Given the description of an element on the screen output the (x, y) to click on. 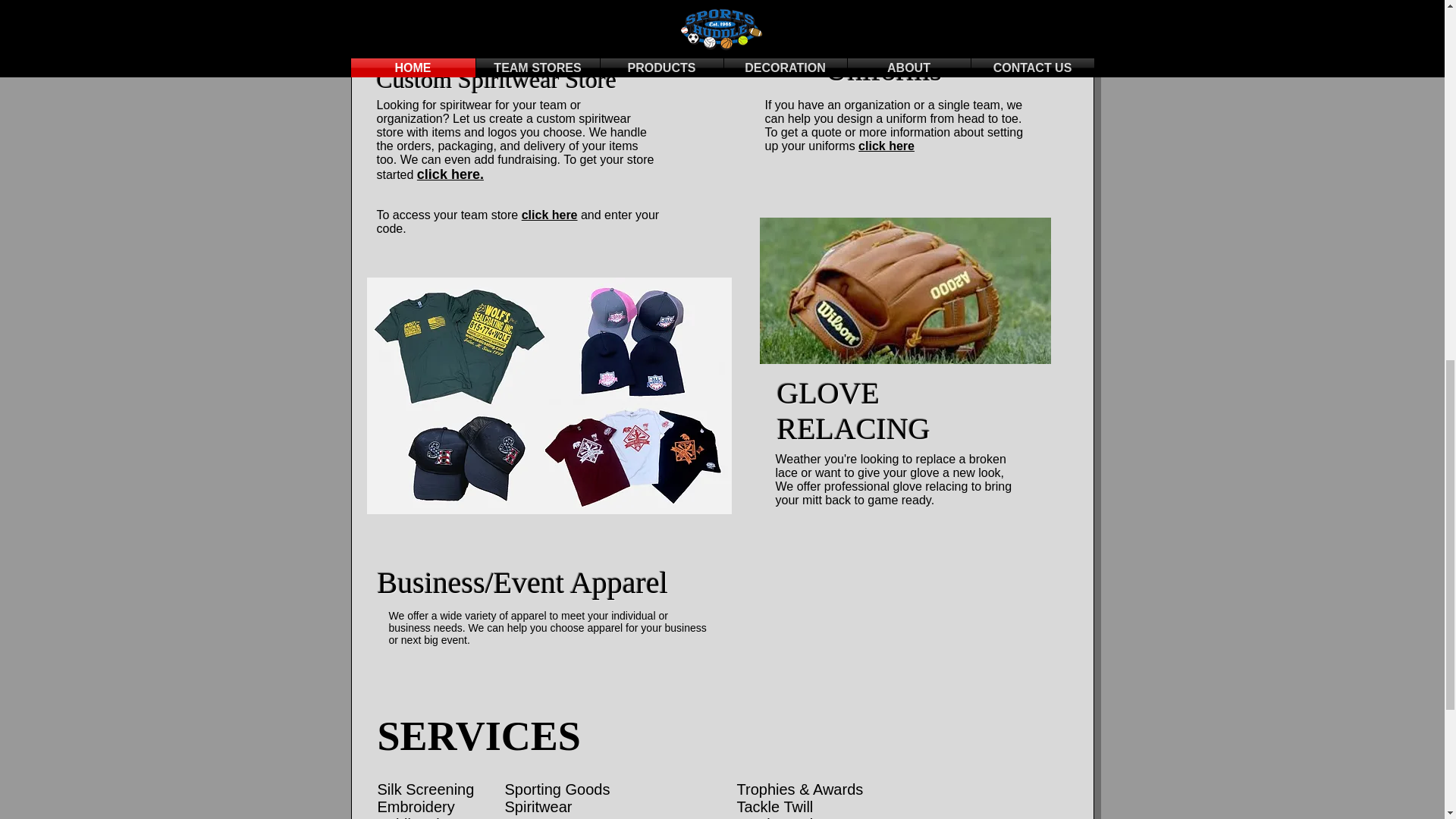
click here (549, 214)
click here. (449, 174)
click here (886, 145)
